Given the description of an element on the screen output the (x, y) to click on. 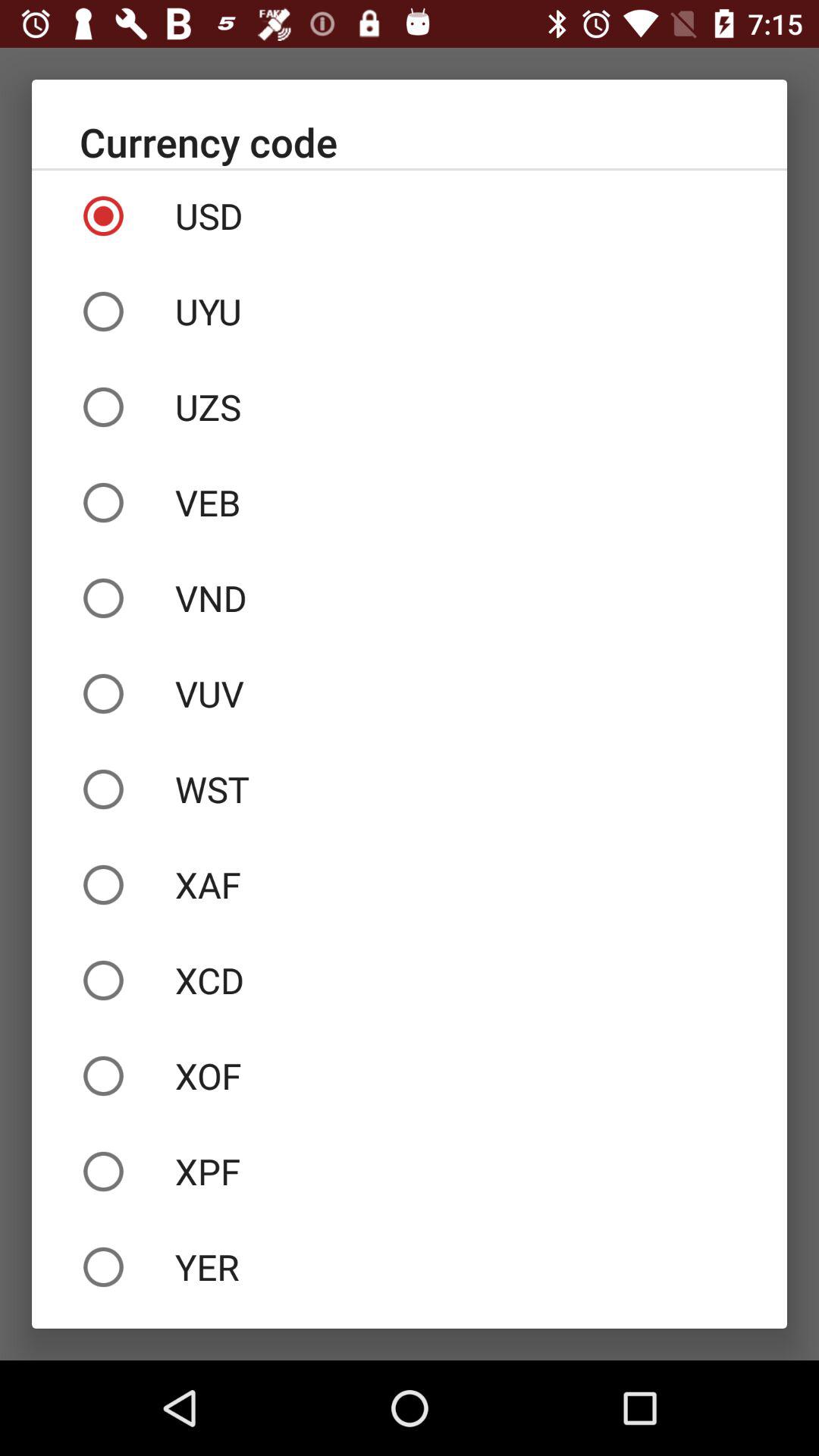
press wst item (409, 789)
